Given the description of an element on the screen output the (x, y) to click on. 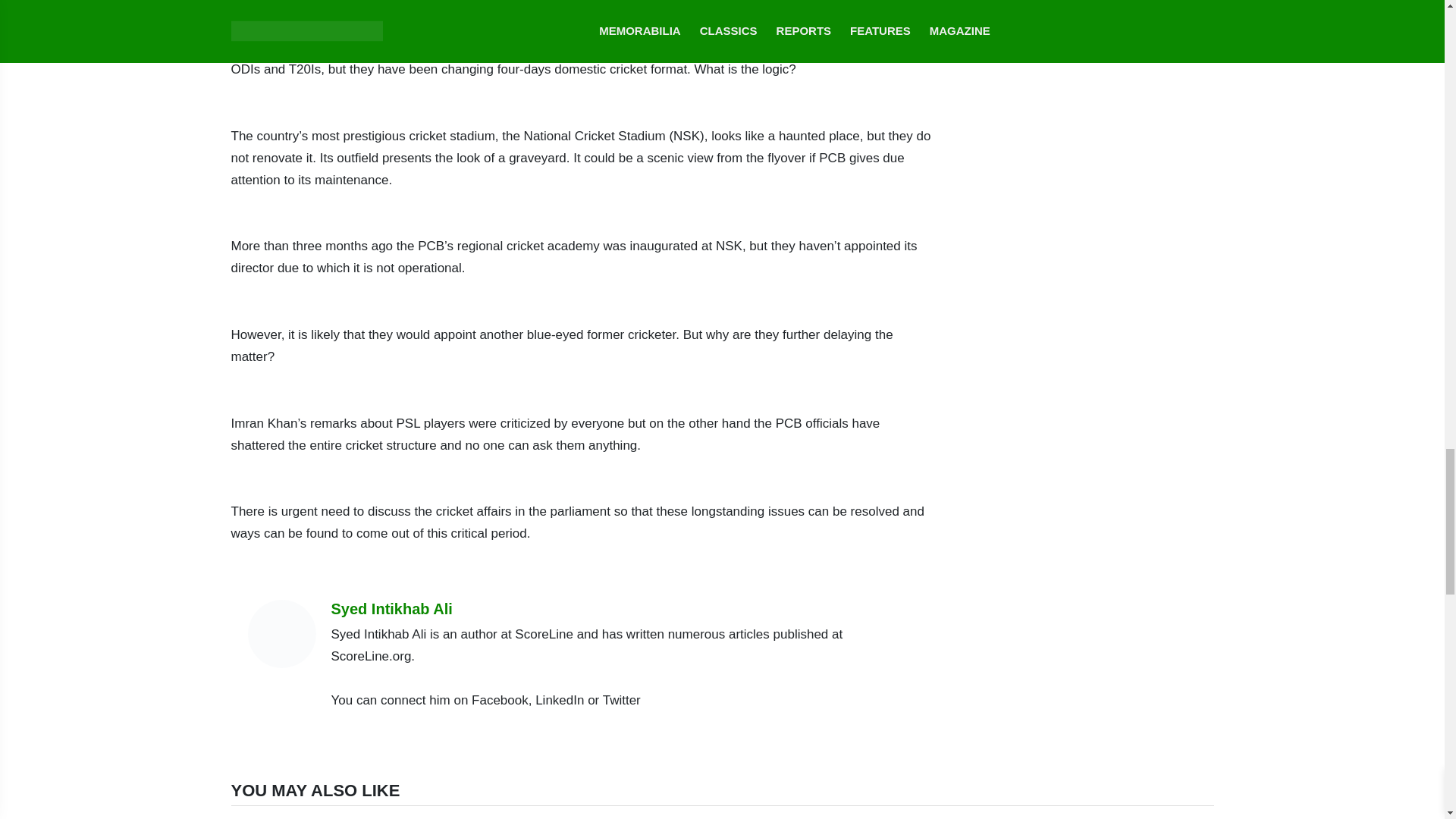
Syed Intikhab Ali (624, 608)
